Given the description of an element on the screen output the (x, y) to click on. 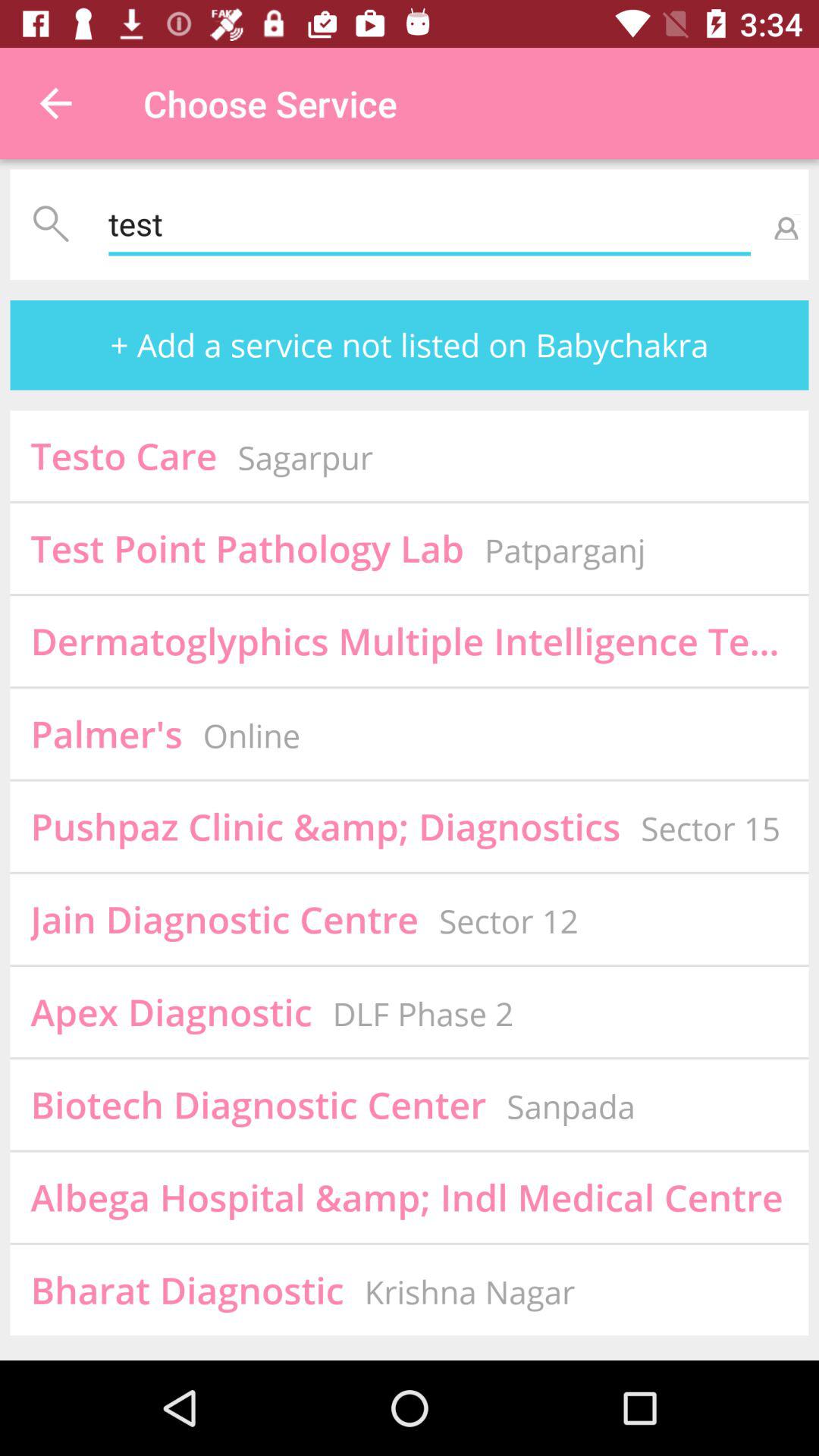
launch the icon below the got a service item (106, 733)
